Given the description of an element on the screen output the (x, y) to click on. 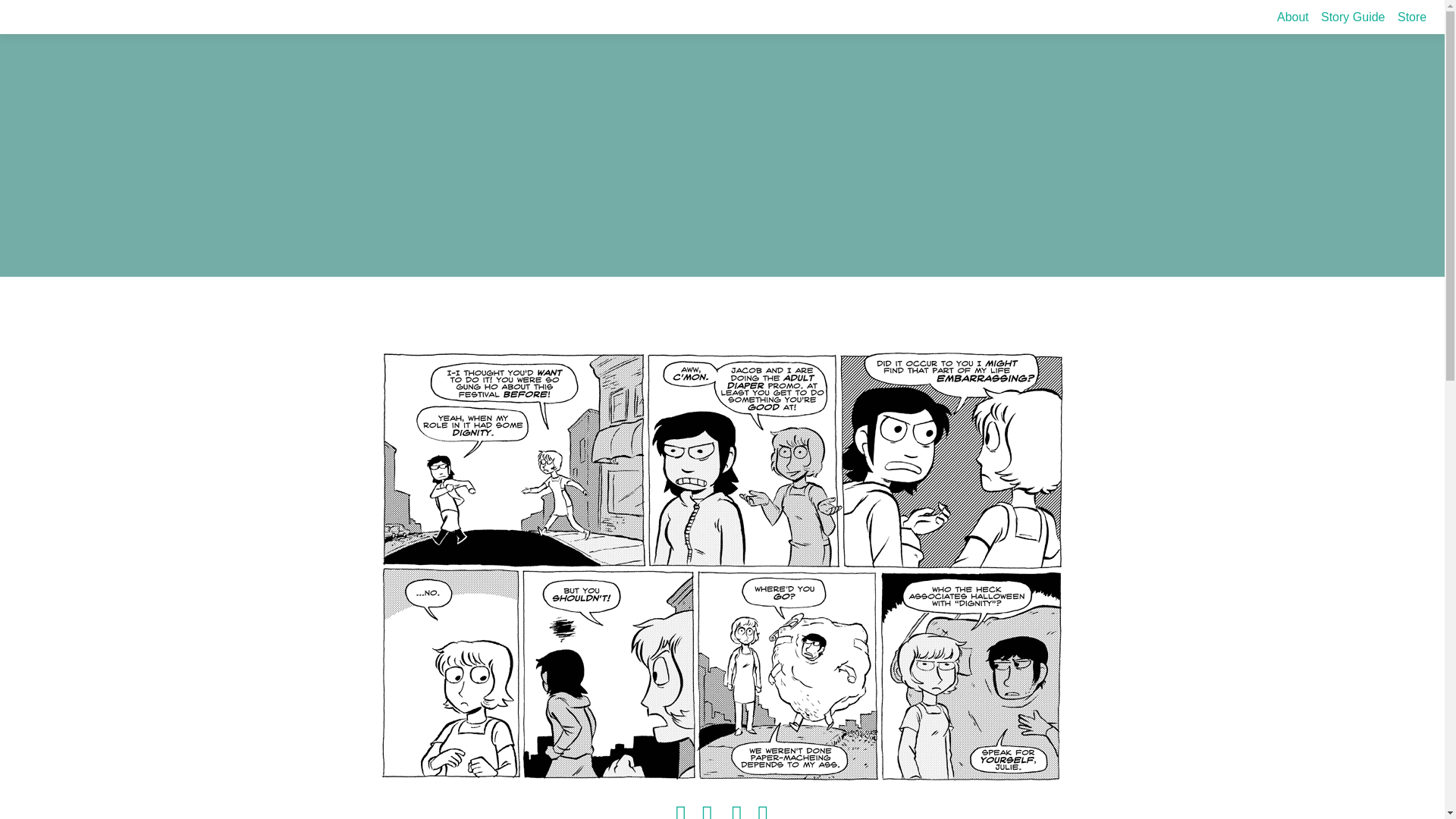
Store (1411, 16)
Store (1411, 16)
Story Guide (1352, 16)
About (1292, 16)
Story Guide (1352, 16)
About (1292, 16)
